Given the description of an element on the screen output the (x, y) to click on. 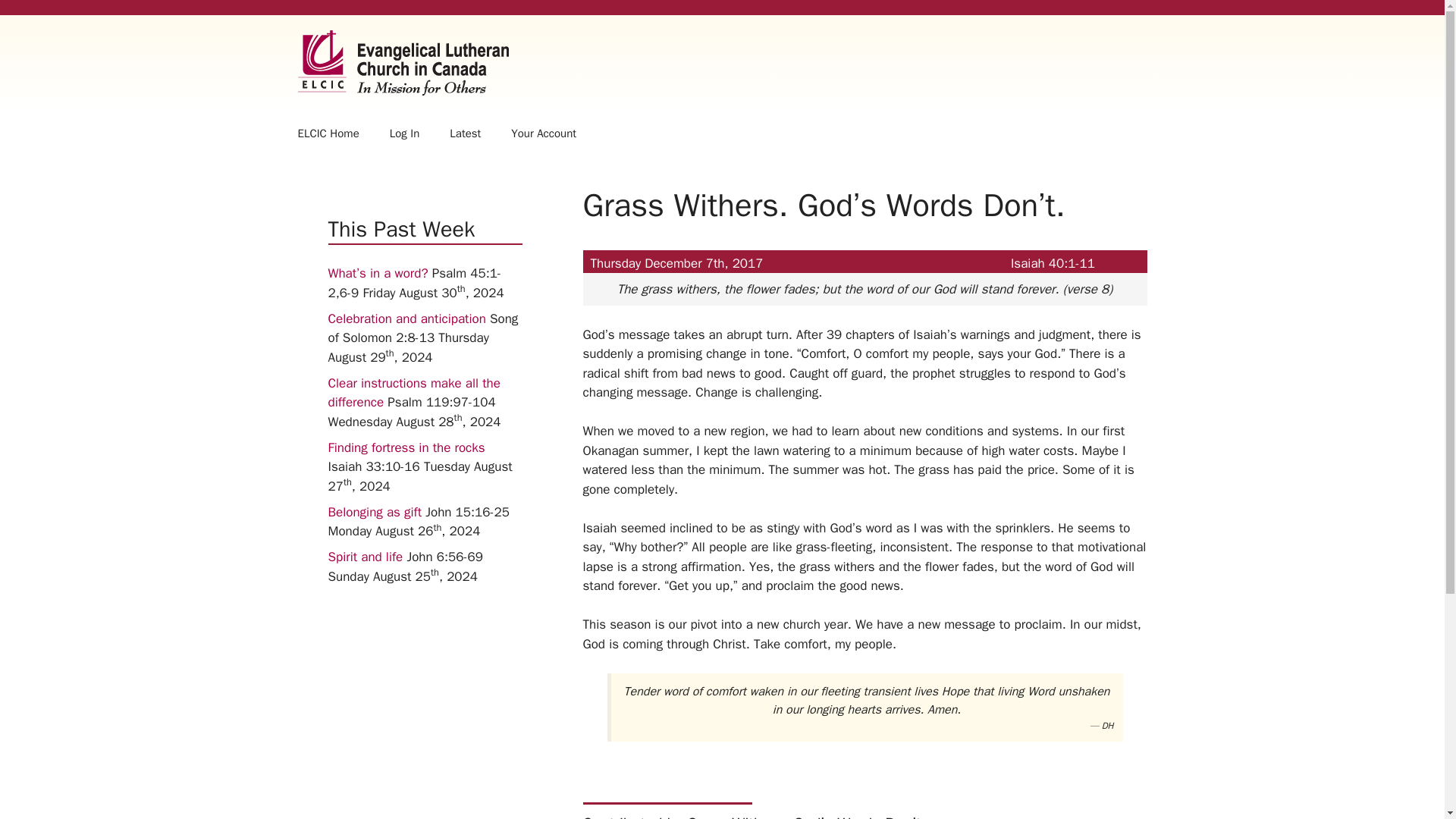
Latest (464, 133)
Finding fortress in the rocks (405, 447)
Your Account (543, 133)
ELCIC Home (328, 133)
Clear instructions make all the difference (413, 393)
Belonging as gift (374, 512)
Celebration and anticipation (405, 318)
Log In (404, 133)
Spirit and life (365, 556)
